Given the description of an element on the screen output the (x, y) to click on. 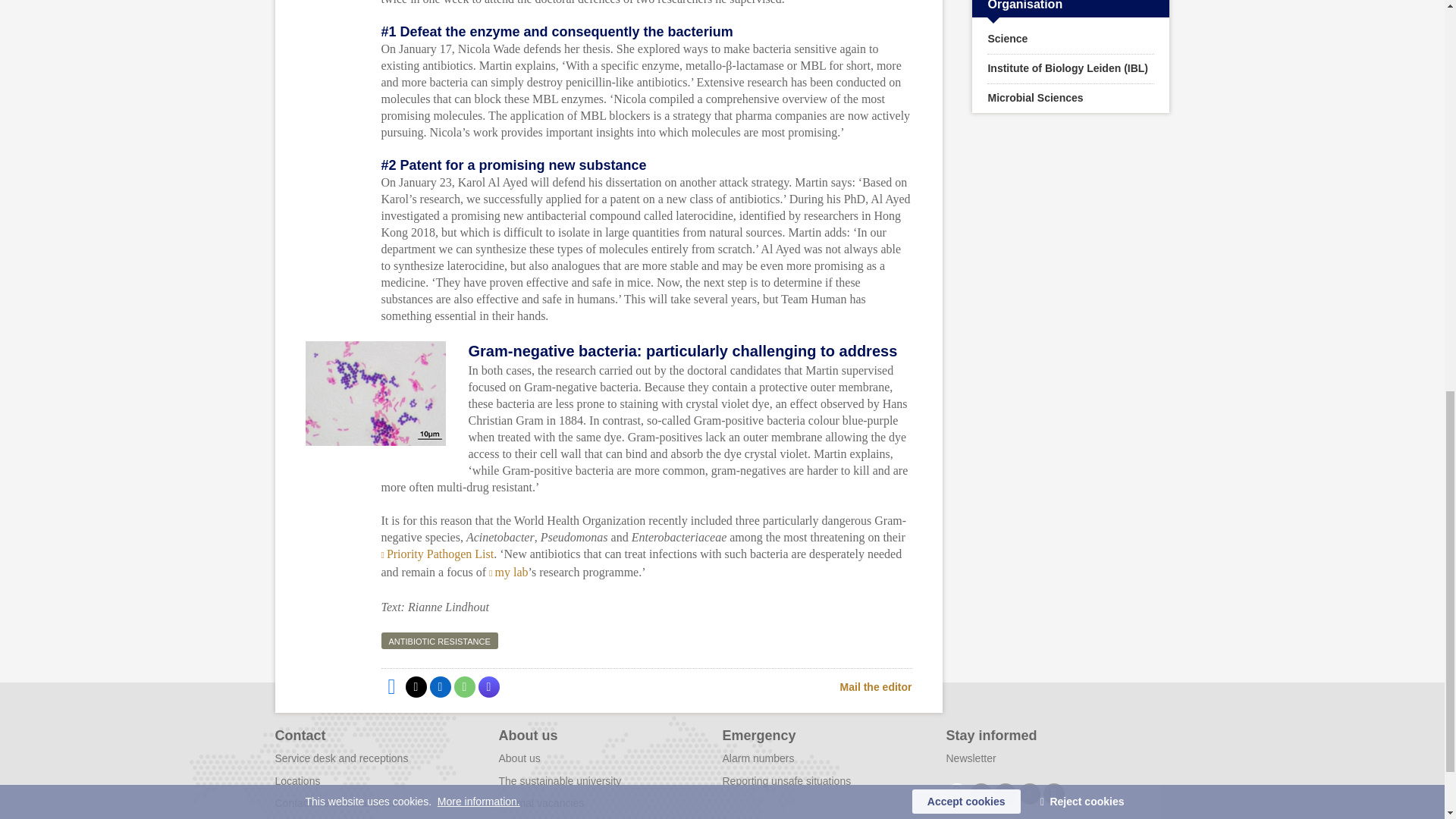
Share by Mastodon (488, 686)
Share on X (415, 686)
Share by WhatsApp (463, 686)
Share on Facebook (390, 686)
Share on LinkedIn (439, 686)
